Given the description of an element on the screen output the (x, y) to click on. 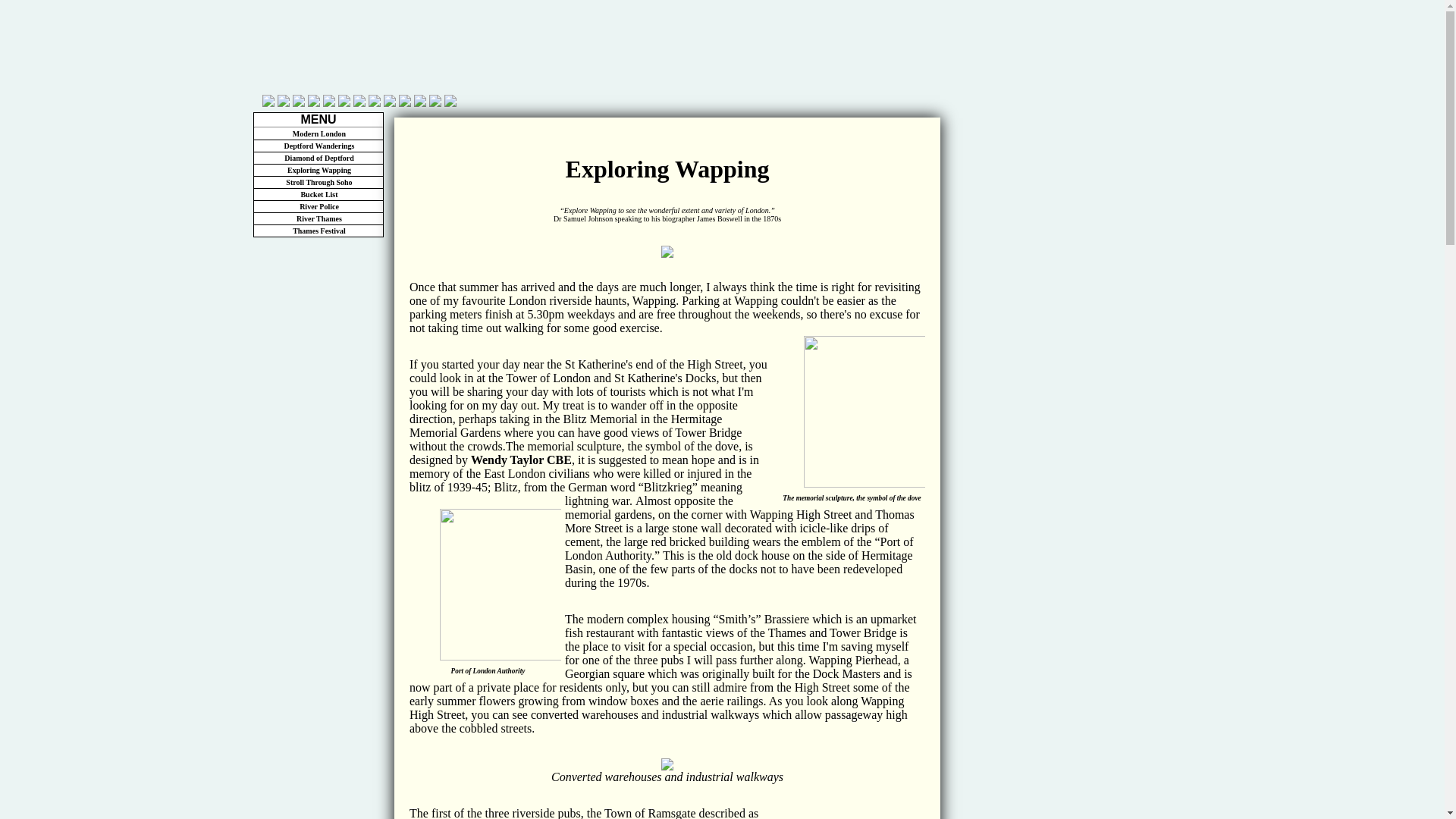
River Police (317, 206)
Bucket List (317, 194)
Modern London (317, 133)
River Thames (317, 218)
Exploring Wapping (317, 170)
Diamond of Deptford (317, 158)
Thames Festival (317, 231)
Stroll Through Soho (317, 182)
Deptford Wanderings (317, 146)
